Given the description of an element on the screen output the (x, y) to click on. 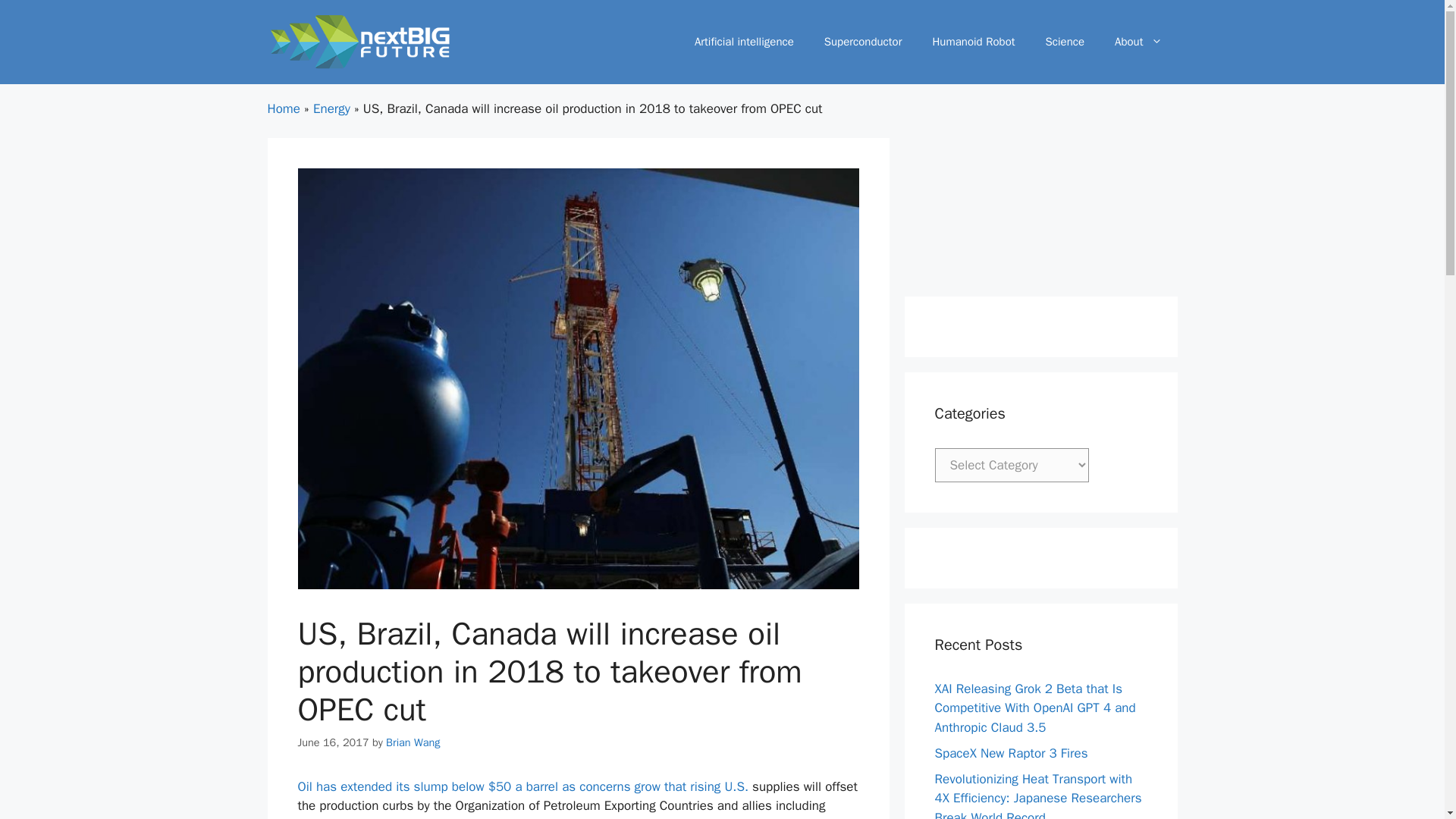
SpaceX New Raptor 3 Fires (1010, 753)
Humanoid Robot (973, 41)
View all posts by Brian Wang (413, 742)
About (1137, 41)
Science (1065, 41)
Superconductor (863, 41)
Energy (331, 108)
Home (282, 108)
Brian Wang (413, 742)
